Given the description of an element on the screen output the (x, y) to click on. 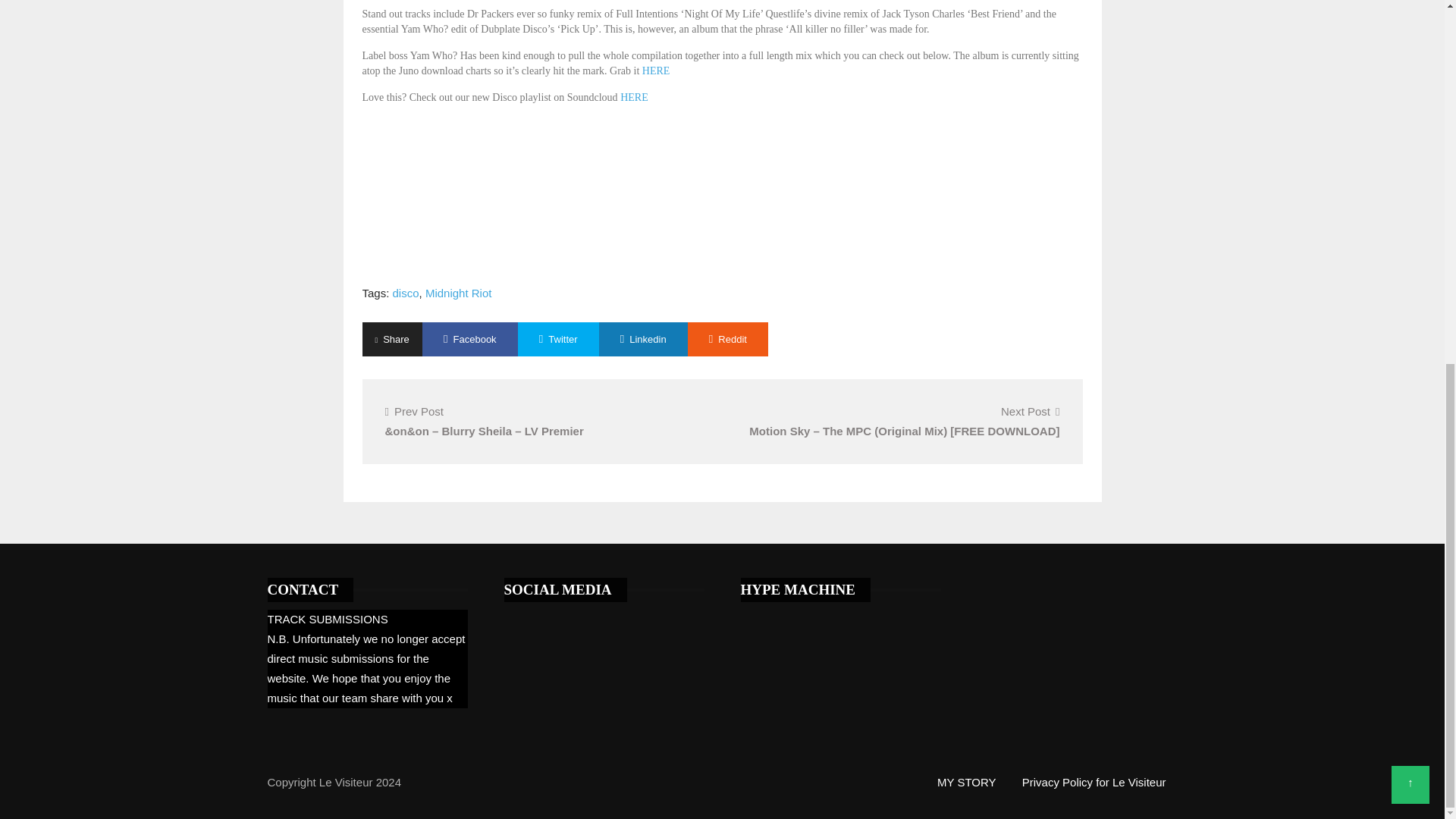
Share (392, 339)
Midnight Riot (458, 292)
Visit Us On Youtube (565, 618)
Visit Us On Facebook (541, 618)
Visit Us On Twitter (515, 618)
Visit Us On Instagram (591, 618)
HERE (633, 97)
disco (406, 292)
HERE (655, 70)
